Given the description of an element on the screen output the (x, y) to click on. 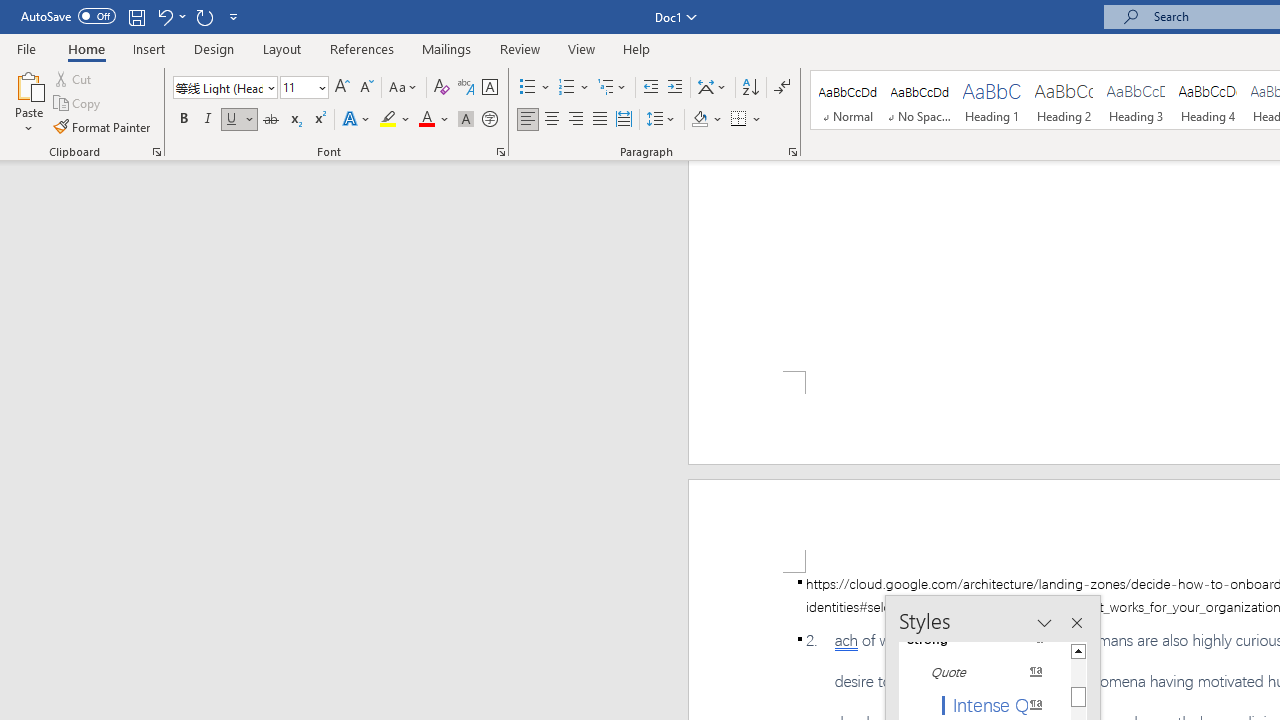
Line and Paragraph Spacing (661, 119)
Decrease Indent (650, 87)
Text Effects and Typography (357, 119)
Change Case (404, 87)
Undo Style (164, 15)
Character Border (489, 87)
Grow Font (342, 87)
Strong (984, 638)
